Given the description of an element on the screen output the (x, y) to click on. 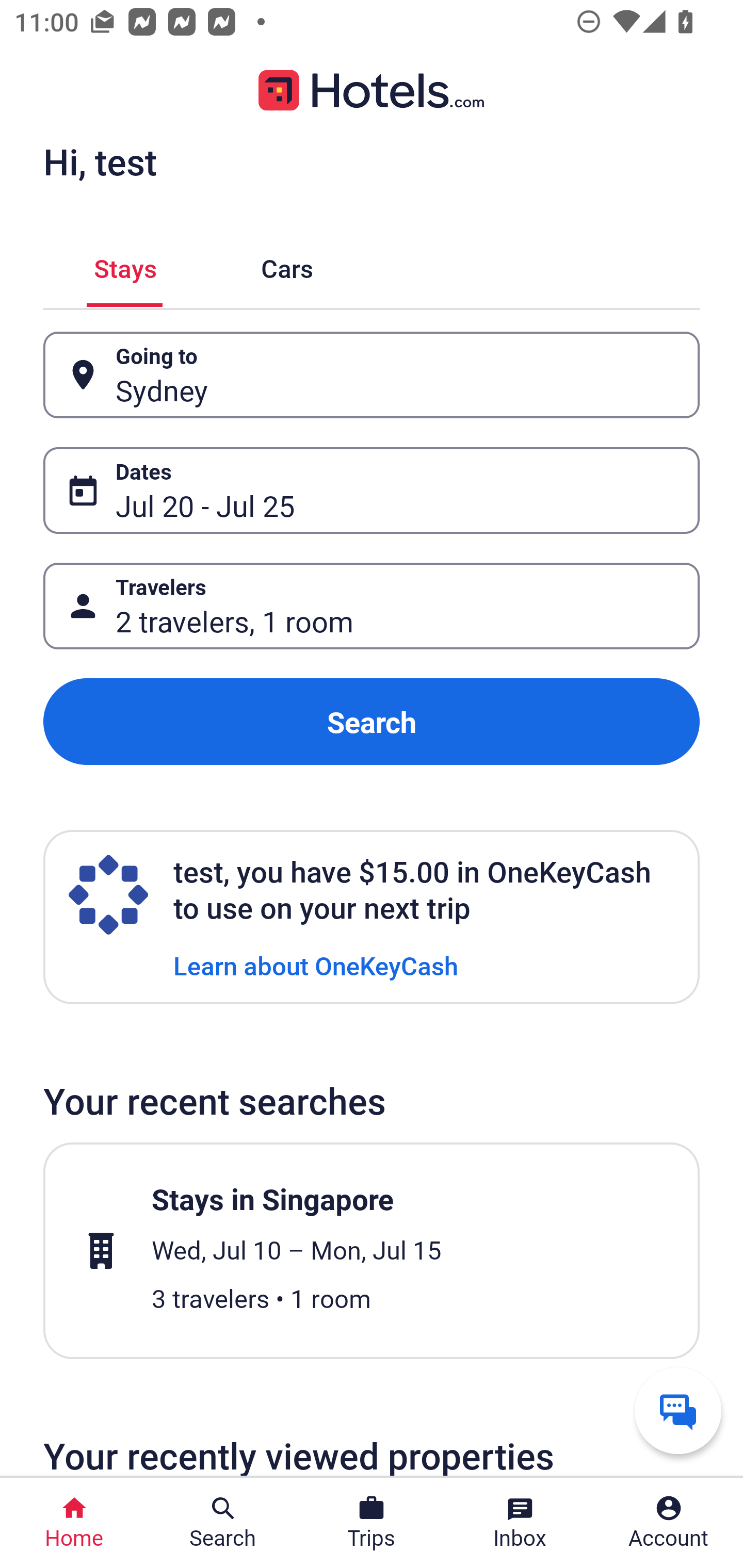
Hi, test (99, 161)
Cars (286, 265)
Going to Button Sydney (371, 375)
Dates Button Jul 20 - Jul 25 (371, 489)
Travelers Button 2 travelers, 1 room (371, 605)
Search (371, 721)
Learn about OneKeyCash Learn about OneKeyCash Link (315, 964)
Get help from a virtual agent (677, 1410)
Search Search Button (222, 1522)
Trips Trips Button (371, 1522)
Inbox Inbox Button (519, 1522)
Account Profile. Button (668, 1522)
